Given the description of an element on the screen output the (x, y) to click on. 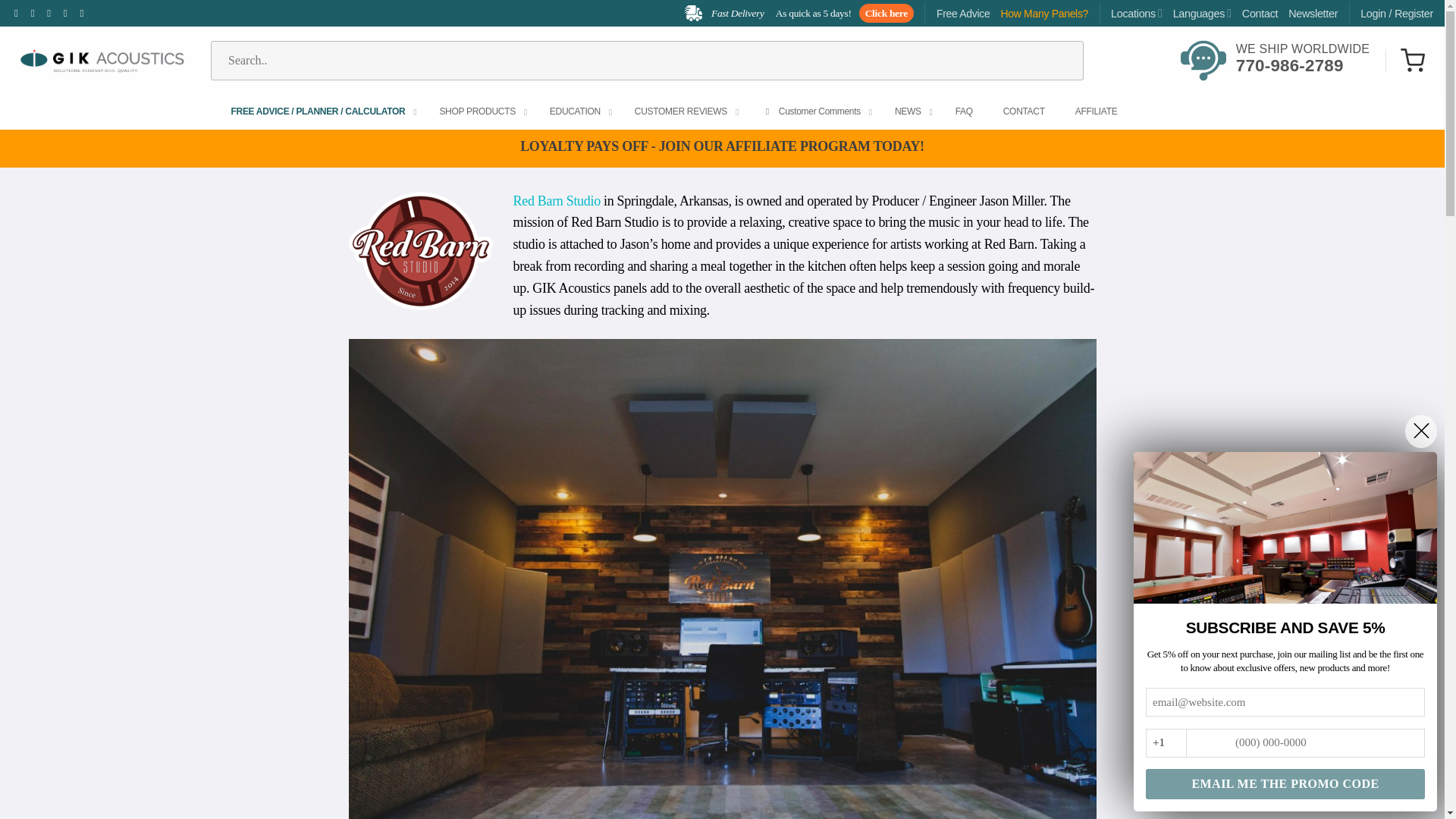
SHOP PRODUCTS (478, 112)
Gik Acoustics - Bringing Your Sound to Life (99, 59)
Contact (1259, 12)
Follow on Facebook (19, 12)
EMAIL ME THE PROMO CODE (1285, 784)
Click here (882, 13)
Languages (1202, 13)
How Many Panels? (1274, 60)
Newsletter (1043, 12)
Follow on Instagram (1313, 12)
Follow on Twitter (36, 12)
Login (52, 12)
Free Advice (1395, 12)
Follow on Pinterest (963, 12)
